Given the description of an element on the screen output the (x, y) to click on. 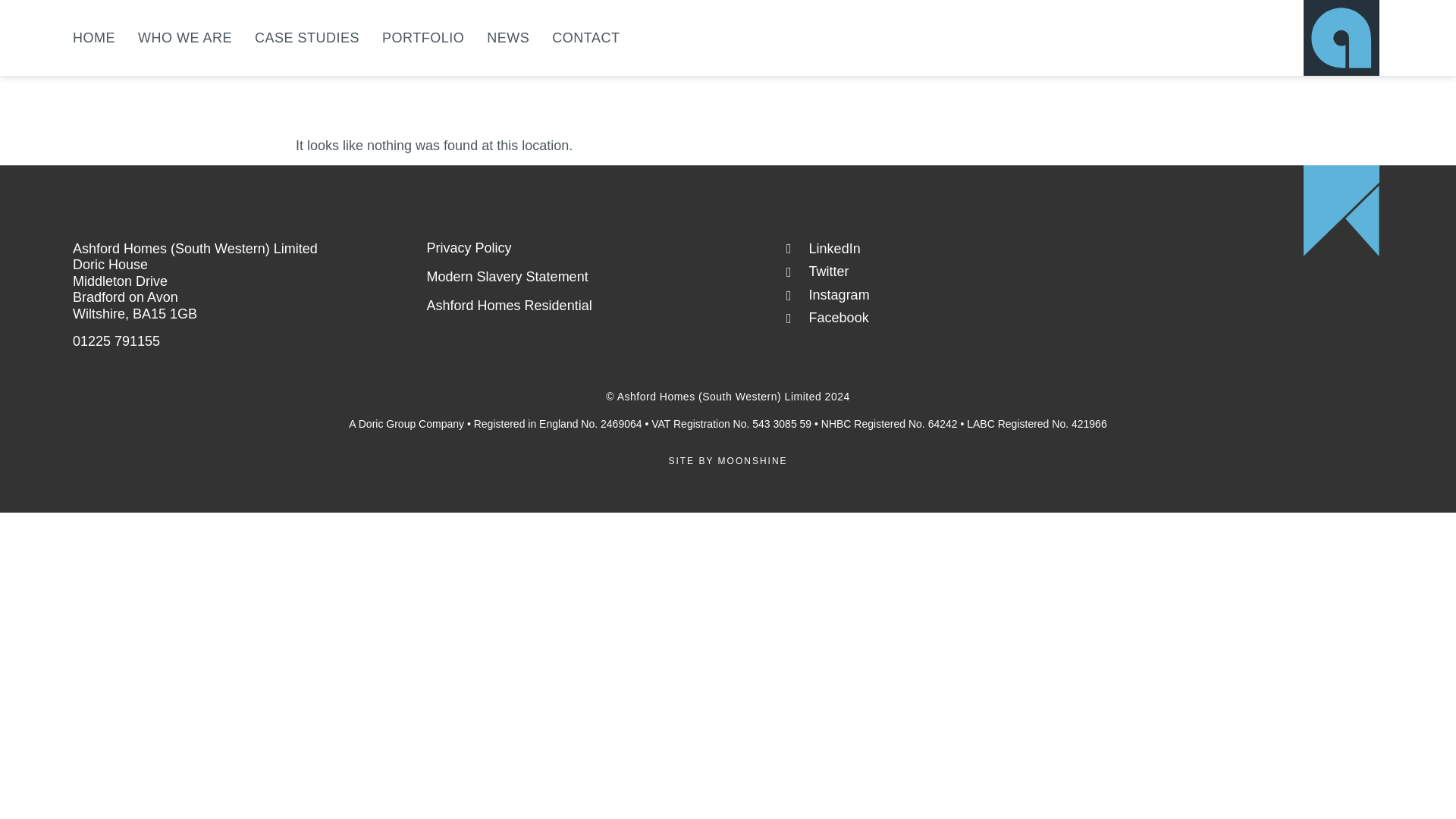
SITE BY MOONSHINE (727, 460)
CONTACT (585, 37)
Ashford Homes Residential (509, 305)
HOME (93, 37)
Instagram (957, 295)
Twitter (957, 271)
LinkedIn (957, 248)
Privacy Policy (469, 247)
Modern Slavery Statement (507, 276)
Facebook (957, 318)
